Given the description of an element on the screen output the (x, y) to click on. 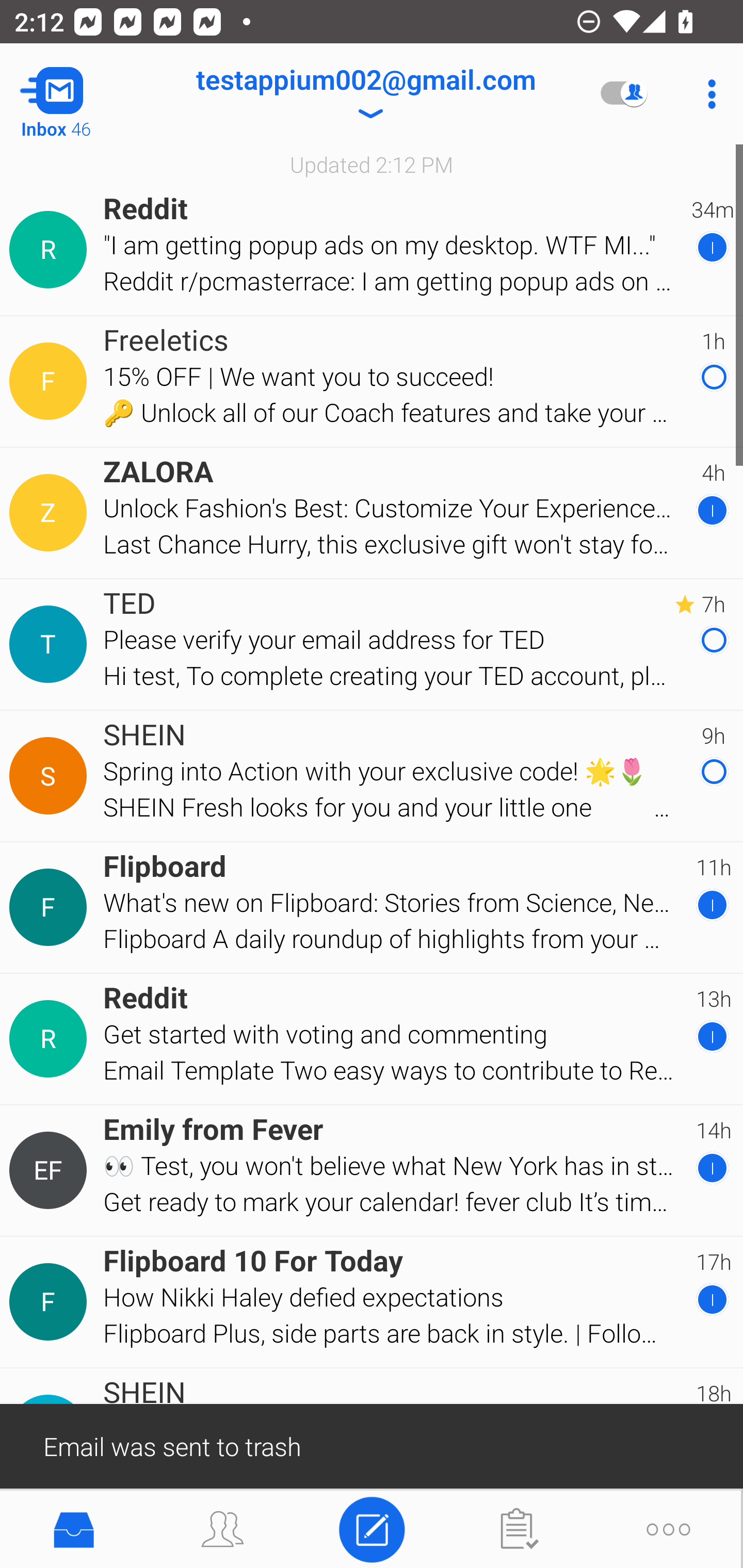
Navigate up (81, 93)
testappium002@gmail.com (365, 93)
More Options (706, 93)
Updated 2:12 PM (371, 164)
Contact Details (50, 250)
Contact Details (50, 381)
Contact Details (50, 513)
Contact Details (50, 644)
Contact Details (50, 776)
Contact Details (50, 907)
Contact Details (50, 1038)
Contact Details (50, 1170)
Contact Details (50, 1302)
Email was sent to trash (371, 1445)
Compose (371, 1528)
